Given the description of an element on the screen output the (x, y) to click on. 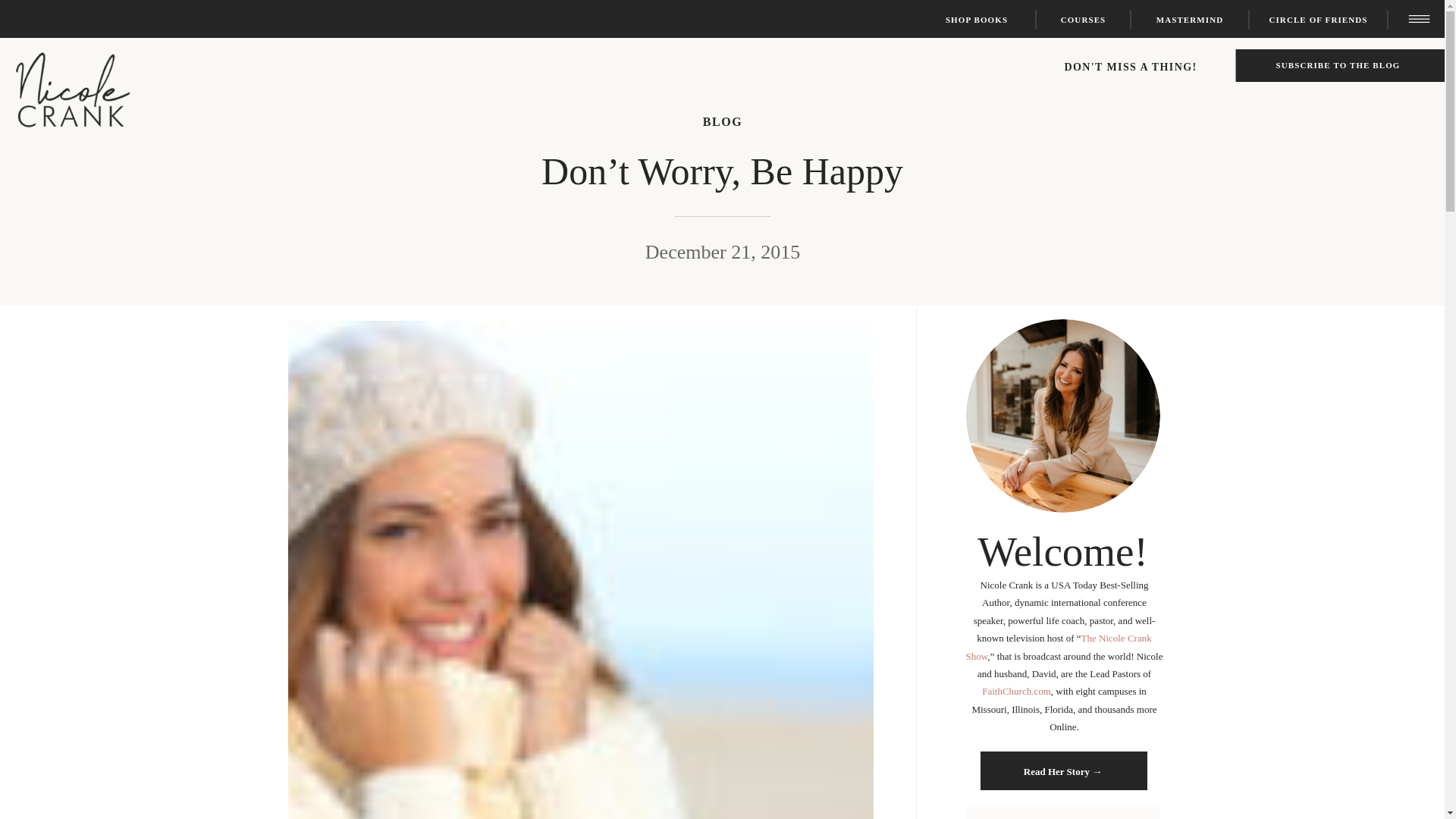
FaithChurch.com (1016, 690)
COURSES (1082, 19)
MASTERMIND (1189, 19)
SHOP BOOKS (976, 19)
CIRCLE OF FRIENDS (1317, 19)
BLOG (722, 121)
The Nicole Crank Show (1058, 646)
